Given the description of an element on the screen output the (x, y) to click on. 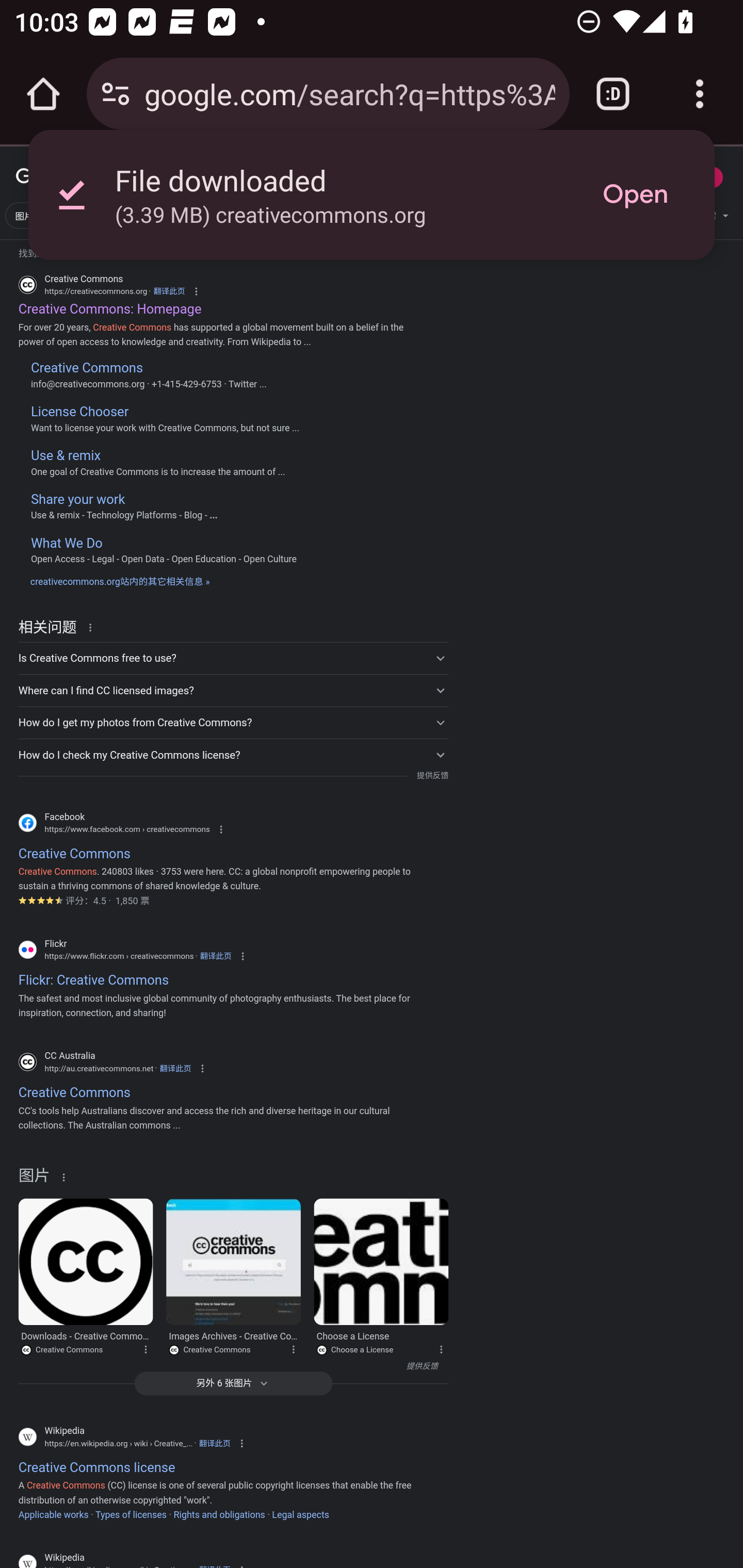
Open the home page (43, 93)
Connection is secure (115, 93)
Switch or close tabs (612, 93)
Customize and control Google Chrome (699, 93)
Open (634, 195)
